Given the description of an element on the screen output the (x, y) to click on. 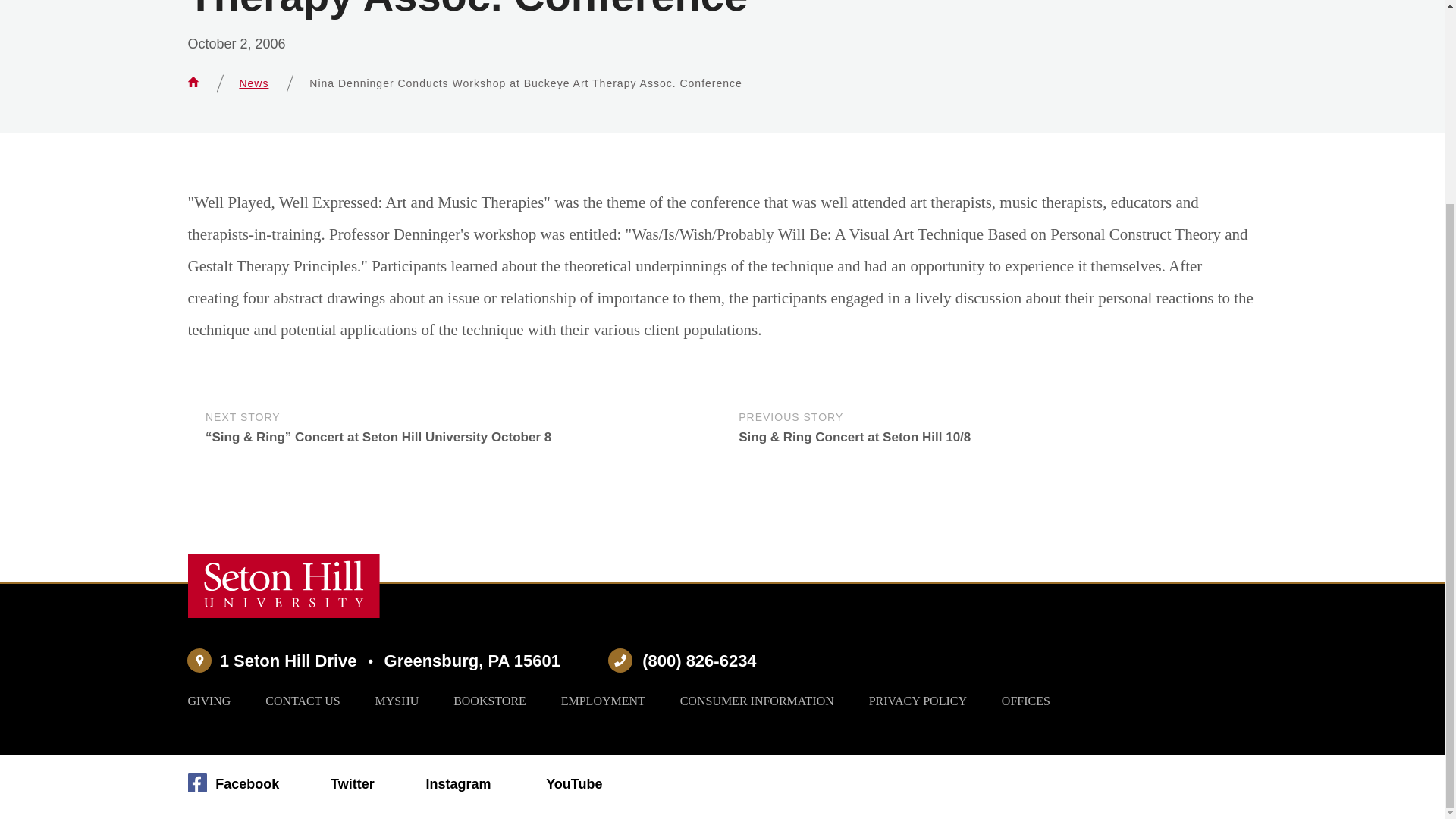
Pennsylvania (497, 660)
